Given the description of an element on the screen output the (x, y) to click on. 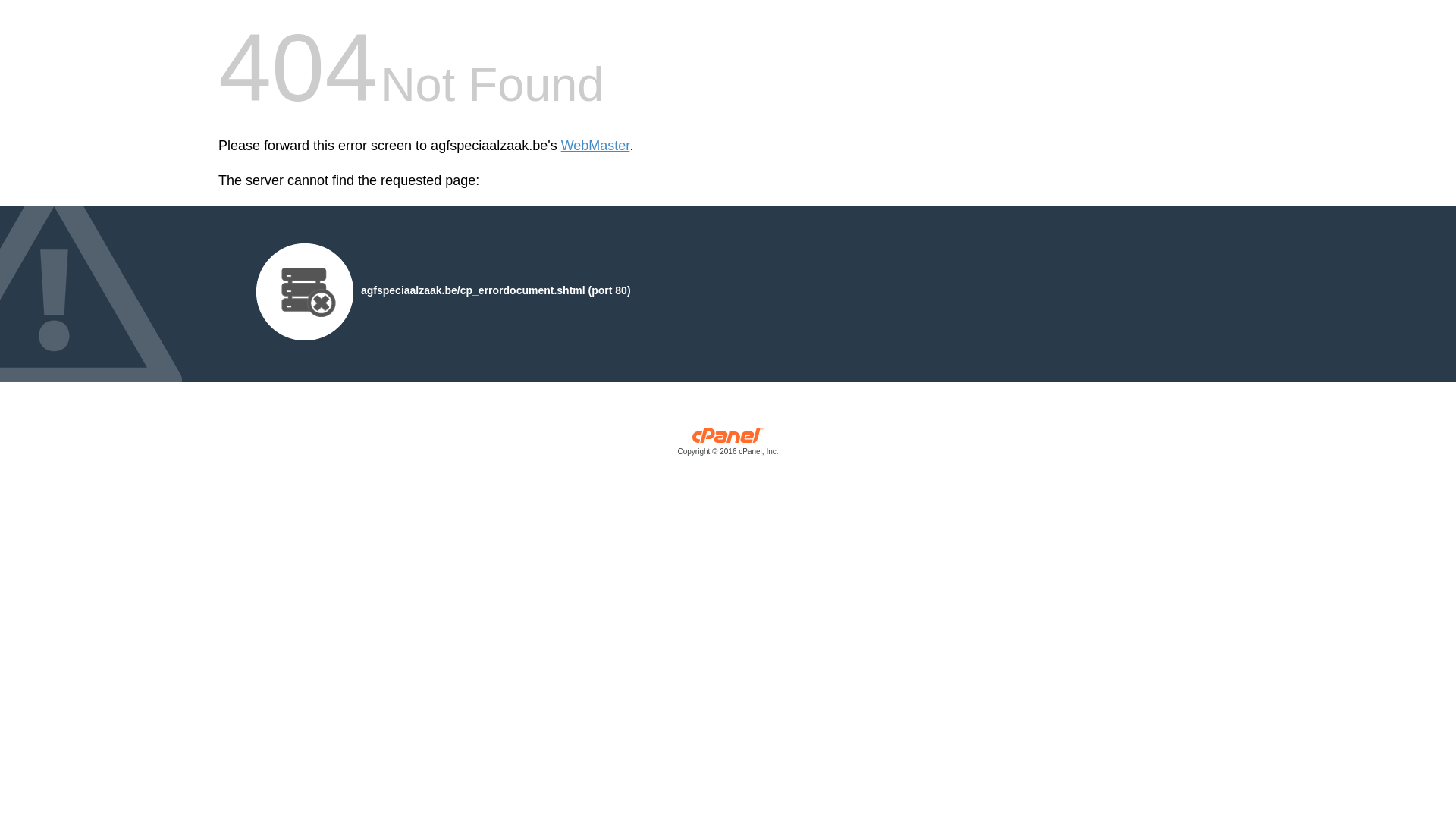
WebMaster Element type: text (595, 145)
